Given the description of an element on the screen output the (x, y) to click on. 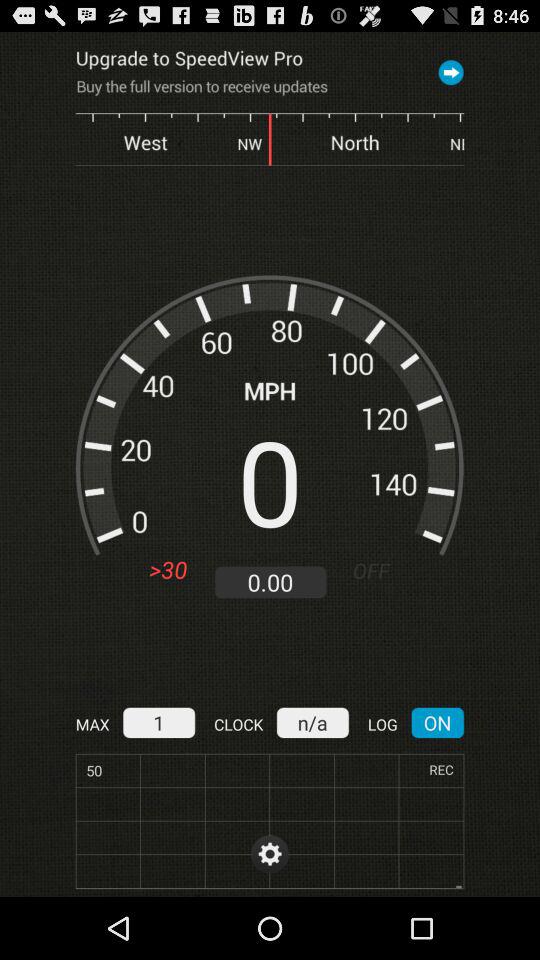
turn off item next to off (270, 582)
